Given the description of an element on the screen output the (x, y) to click on. 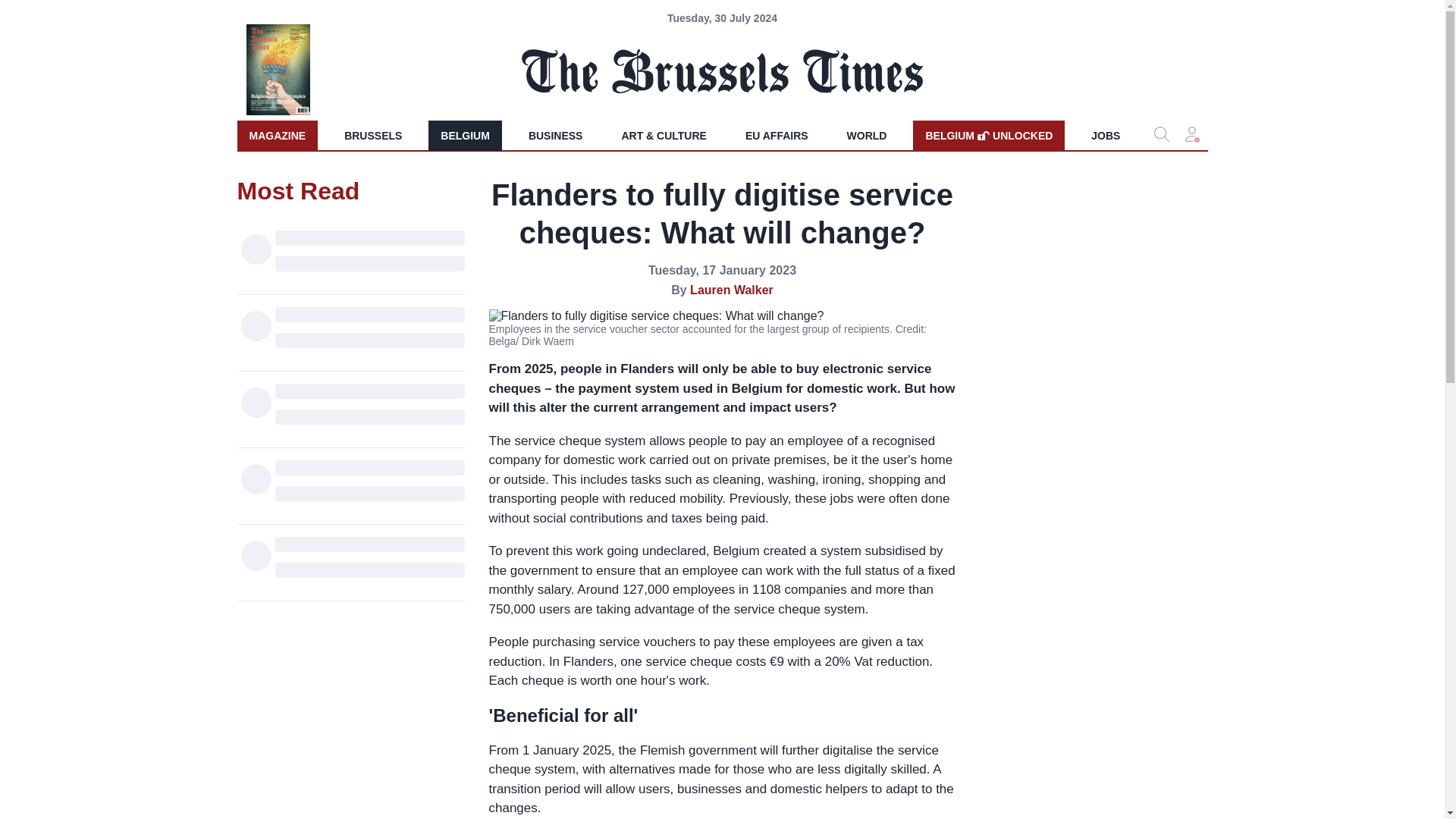
JOBS (1105, 135)
BRUSSELS (372, 135)
BELGIUM (465, 135)
MAGAZINE (276, 135)
WORLD (866, 135)
Lauren Walker (731, 290)
EU AFFAIRS (777, 135)
BUSINESS (988, 135)
